Given the description of an element on the screen output the (x, y) to click on. 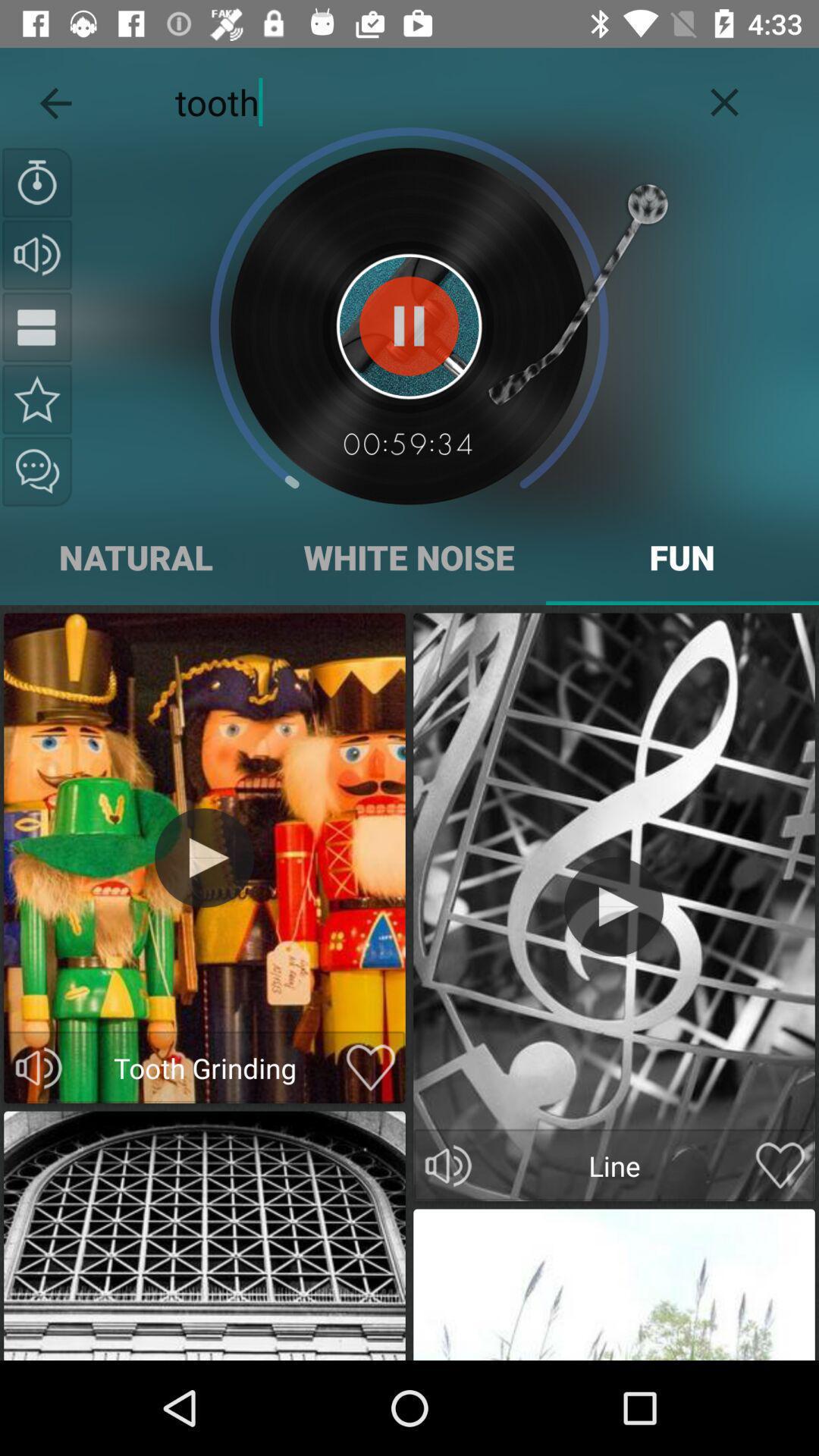
select icon to the left of tooth icon (55, 99)
